Given the description of an element on the screen output the (x, y) to click on. 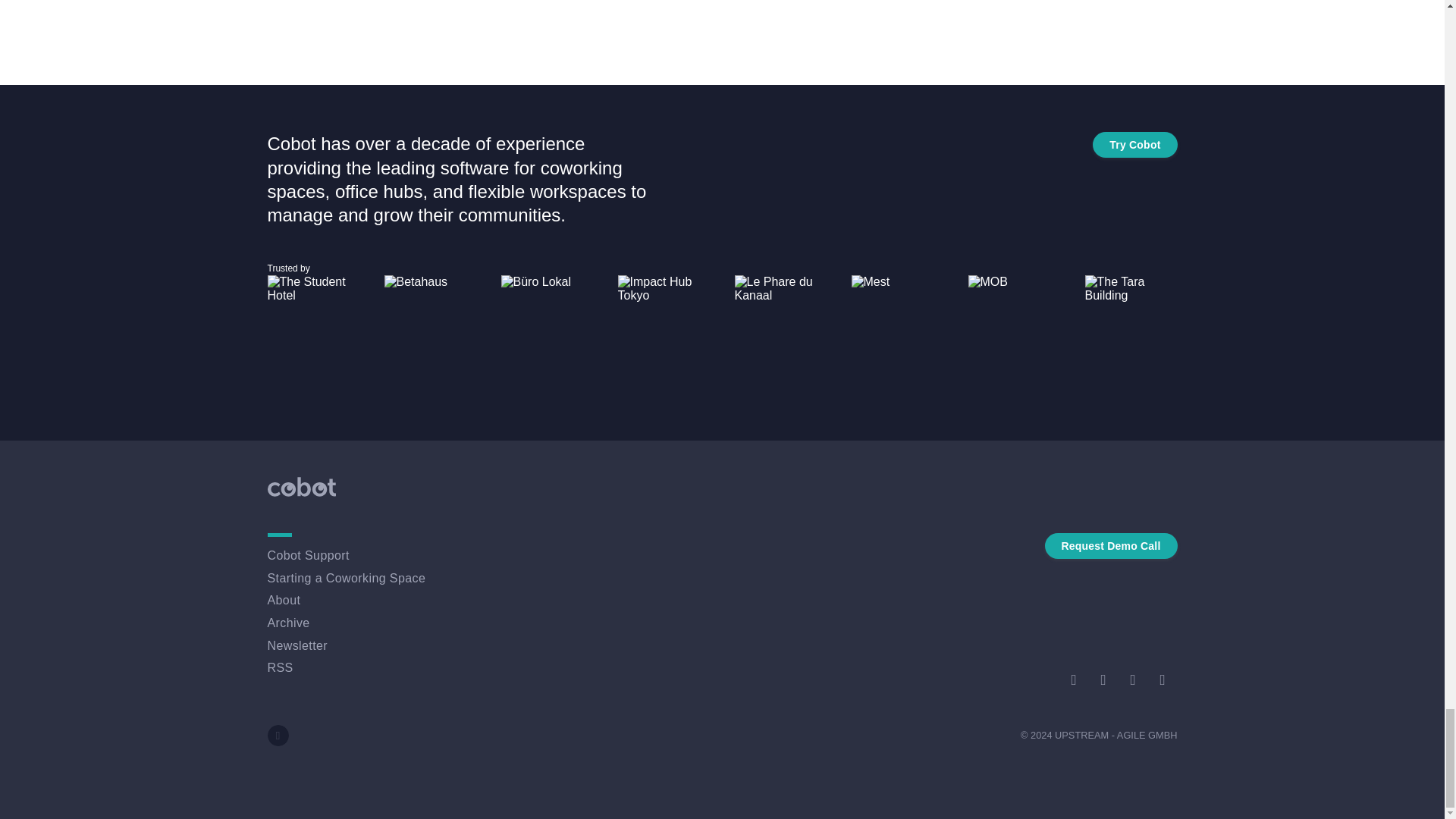
Cobot Homepage (300, 486)
